Given the description of an element on the screen output the (x, y) to click on. 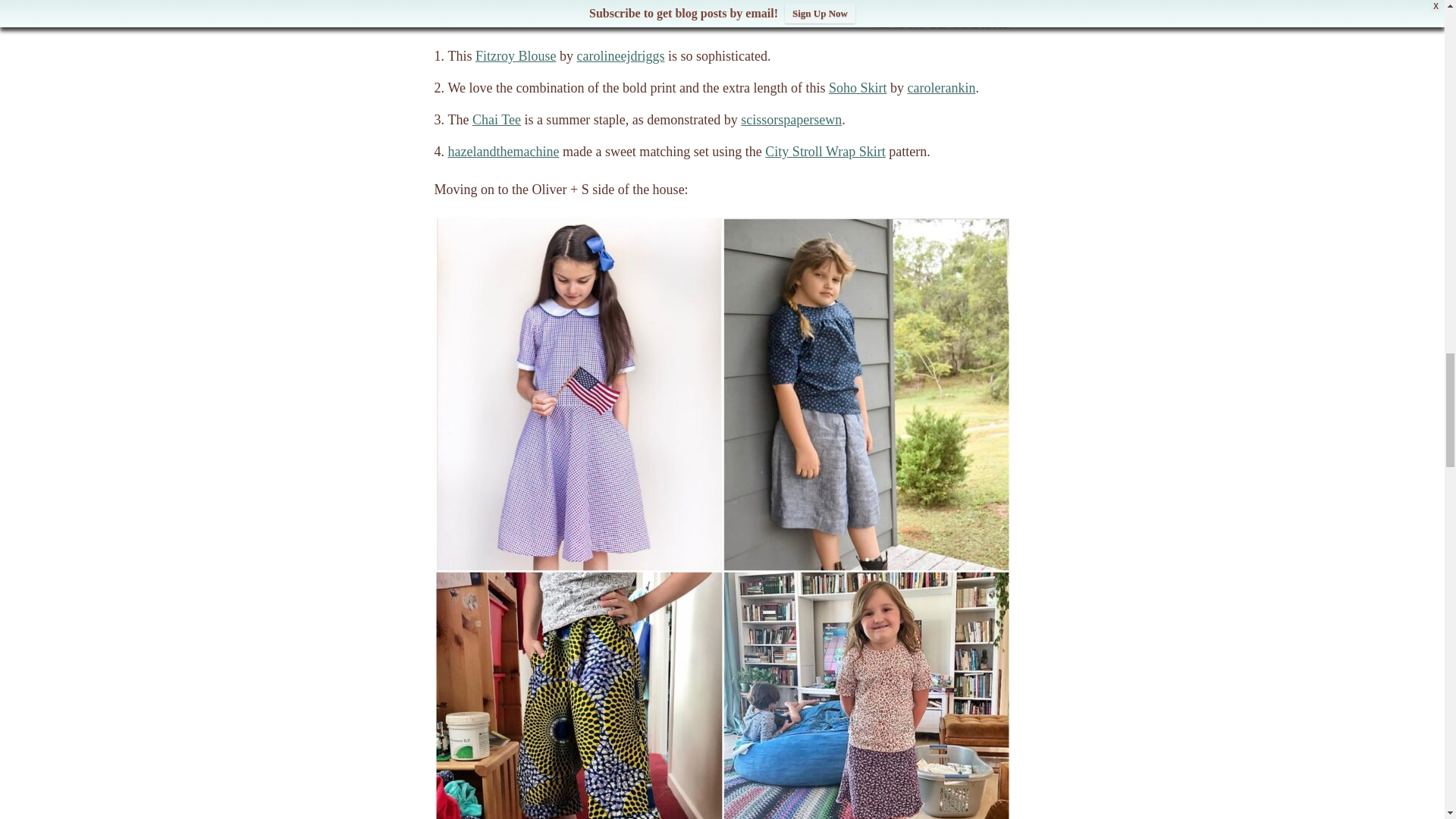
Chai Tee (496, 119)
carolerankin (941, 87)
Fitzroy Blouse (516, 55)
Soho Skirt (857, 87)
hazelandthemachine (502, 151)
City Stroll Wrap Skirt (825, 151)
scissorspapersewn (791, 119)
carolineejdriggs (620, 55)
